Given the description of an element on the screen output the (x, y) to click on. 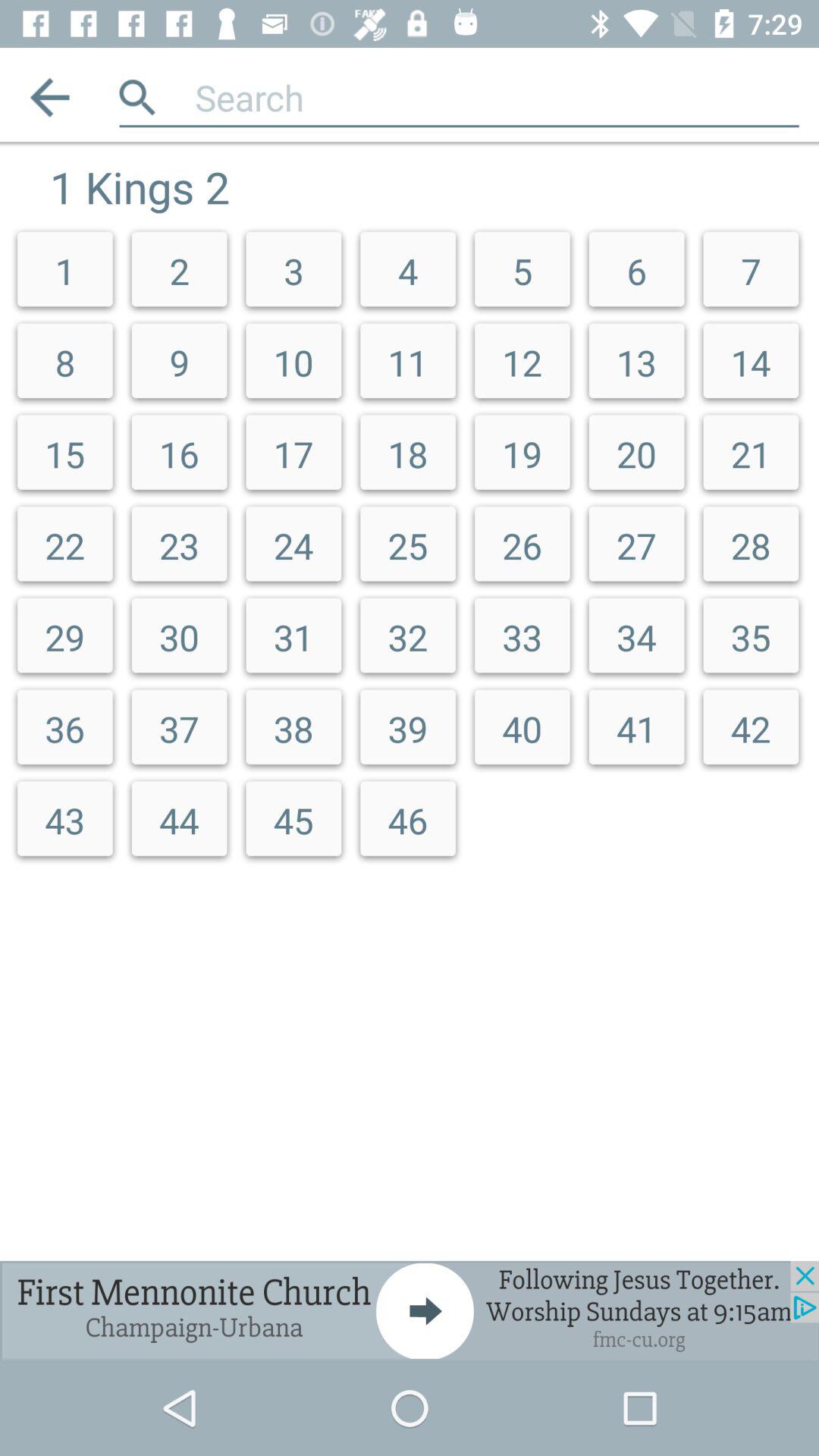
search (497, 97)
